Given the description of an element on the screen output the (x, y) to click on. 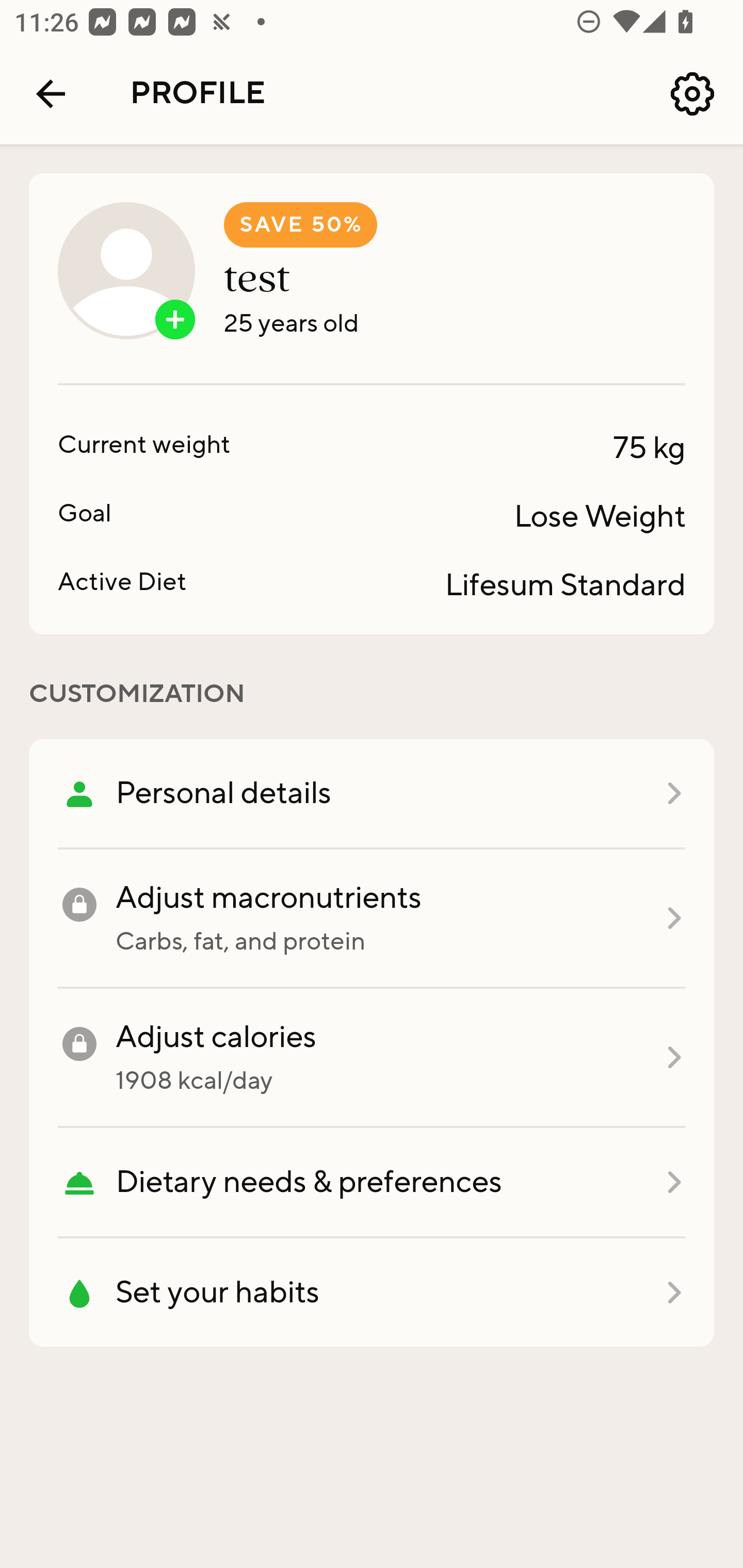
Back (50, 93)
settings (692, 93)
SAVE 50% (300, 224)
profile picture edit_background (125, 270)
Personal details (371, 793)
Adjust macronutrients Carbs, fat, and protein (371, 919)
Adjust calories 1908 kcal/day (371, 1058)
Dietary needs & preferences (371, 1182)
Set your habits (371, 1292)
